Given the description of an element on the screen output the (x, y) to click on. 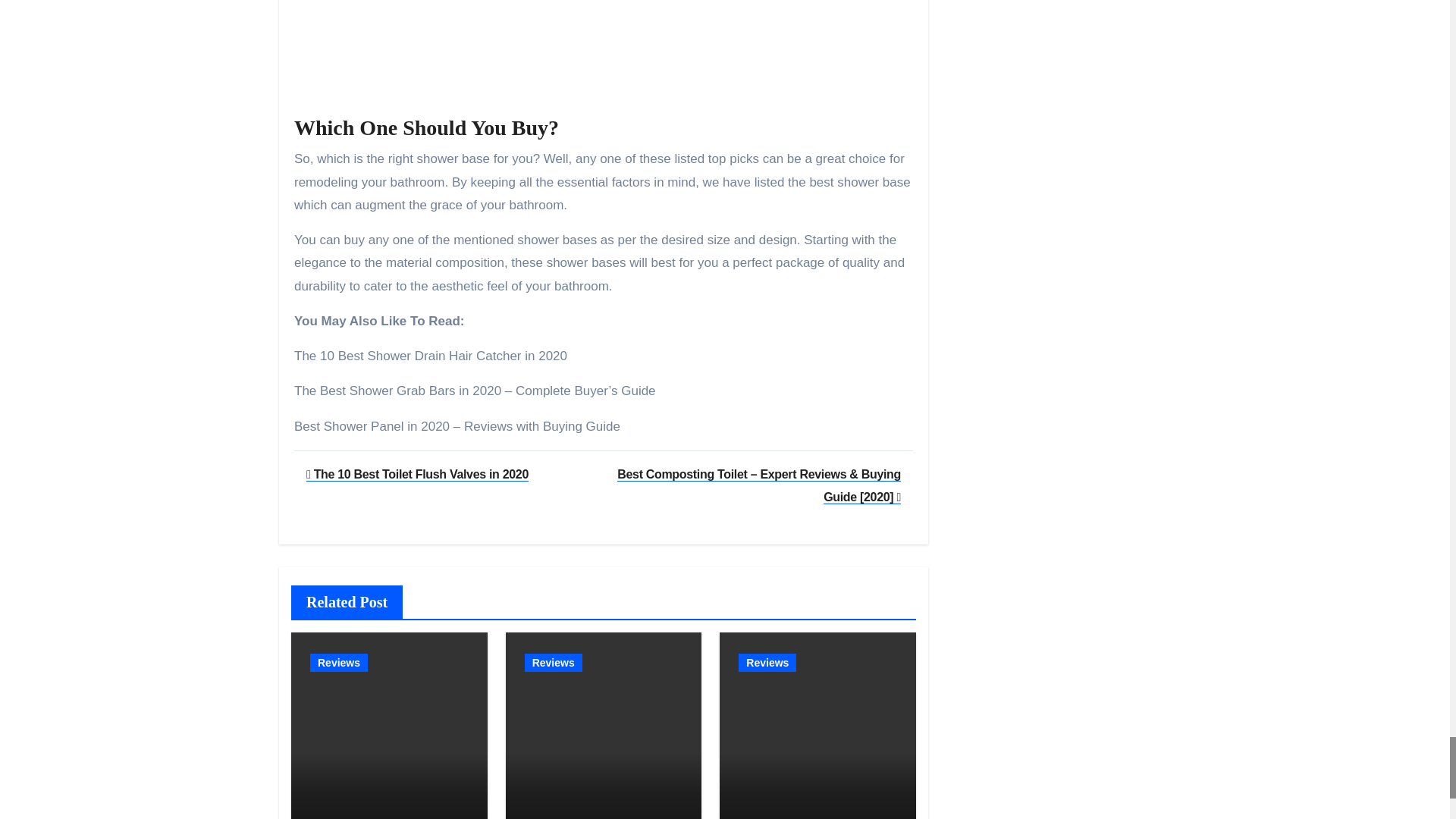
The 10 Best Toilet Flush Valves in 2020 (416, 473)
Reviews (339, 662)
